Given the description of an element on the screen output the (x, y) to click on. 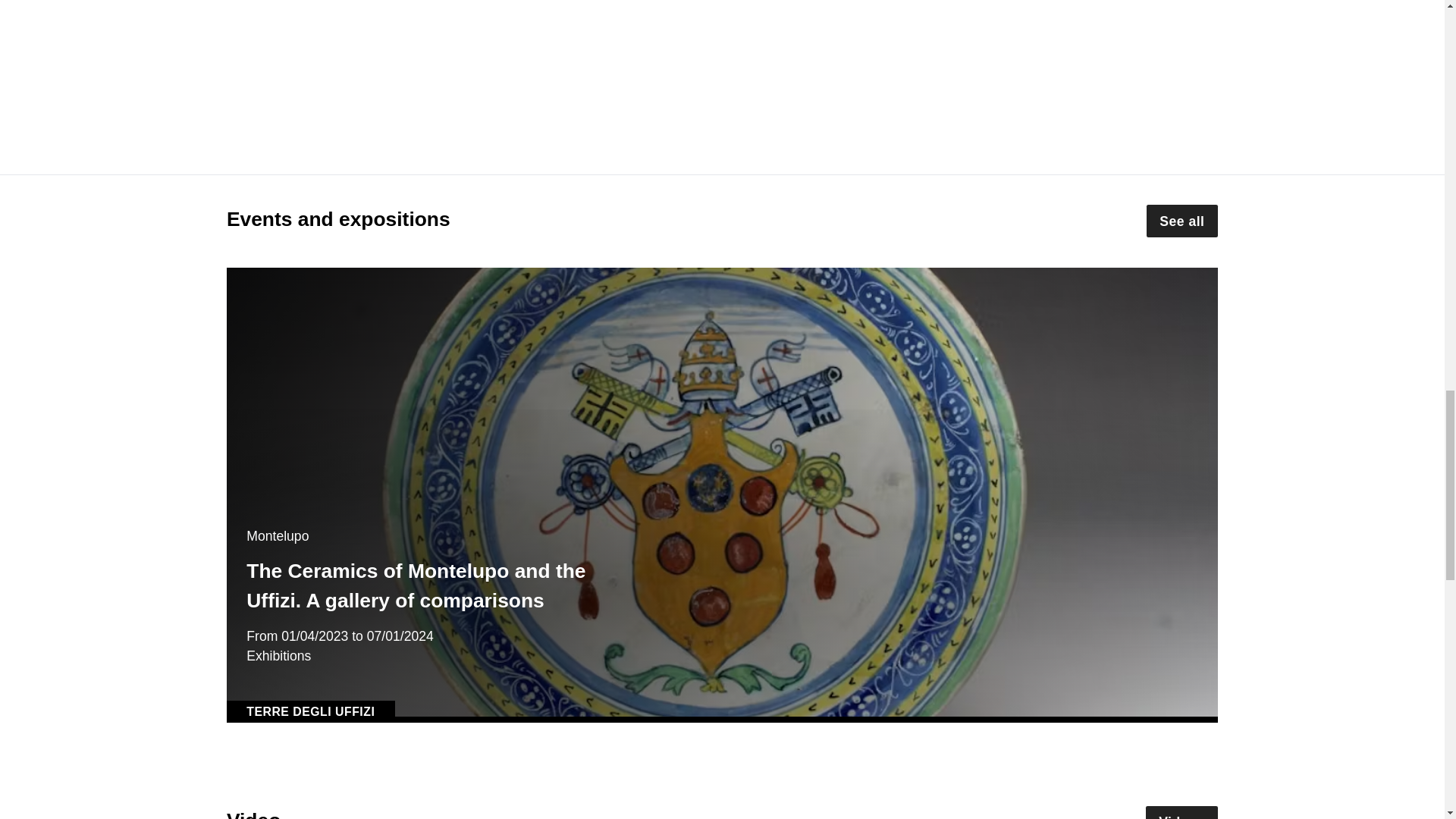
See all (1182, 220)
Videos (1181, 812)
